Given the description of an element on the screen output the (x, y) to click on. 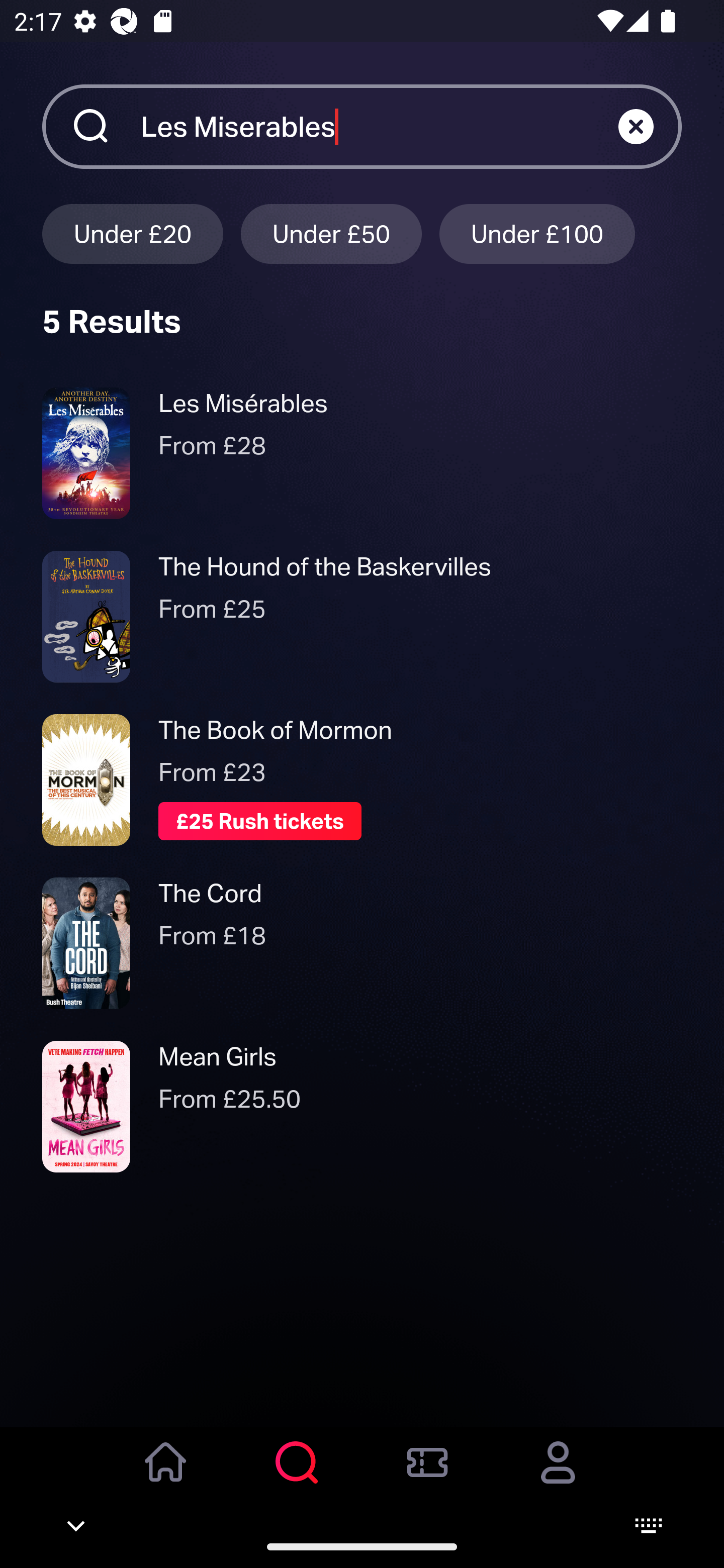
Les Miserables (379, 126)
Under £20 (131, 233)
Under £50 (331, 233)
Under £100 (536, 233)
Les Misérables £28  Les Misérables From £28 (361, 453)
The Cord £18  The Cord From £18 (361, 943)
Mean Girls £25.50  Mean Girls From £25.50 (361, 1106)
Home (165, 1475)
Orders (427, 1475)
Account (558, 1475)
